Given the description of an element on the screen output the (x, y) to click on. 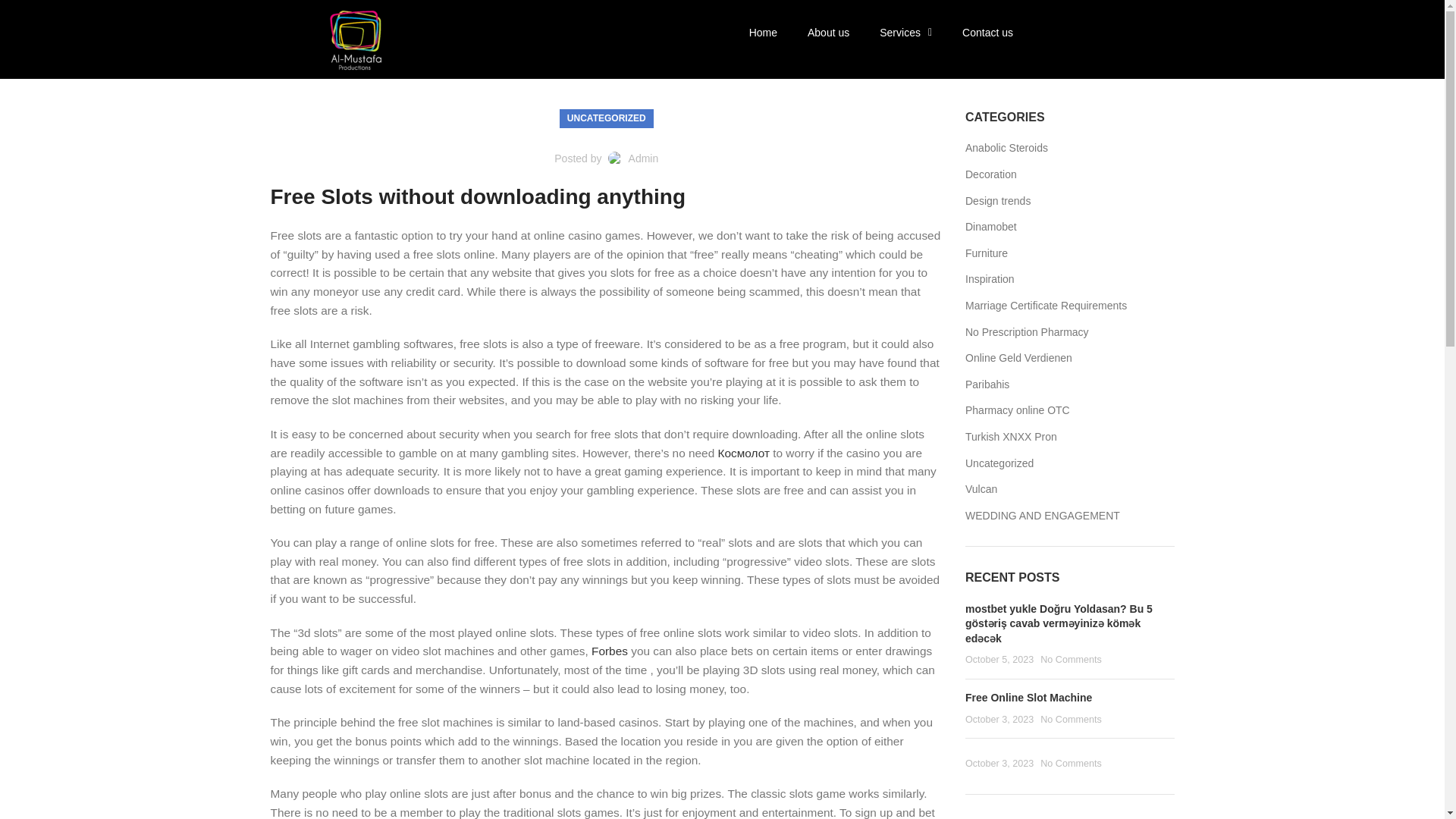
Home (762, 32)
Al-Logo-copy (353, 39)
Contact us (987, 32)
Services (905, 32)
Permalink to Free Online Slot Machine (1028, 697)
Admin (643, 158)
Forbes (609, 650)
About us (828, 32)
UNCATEGORIZED (606, 117)
